Given the description of an element on the screen output the (x, y) to click on. 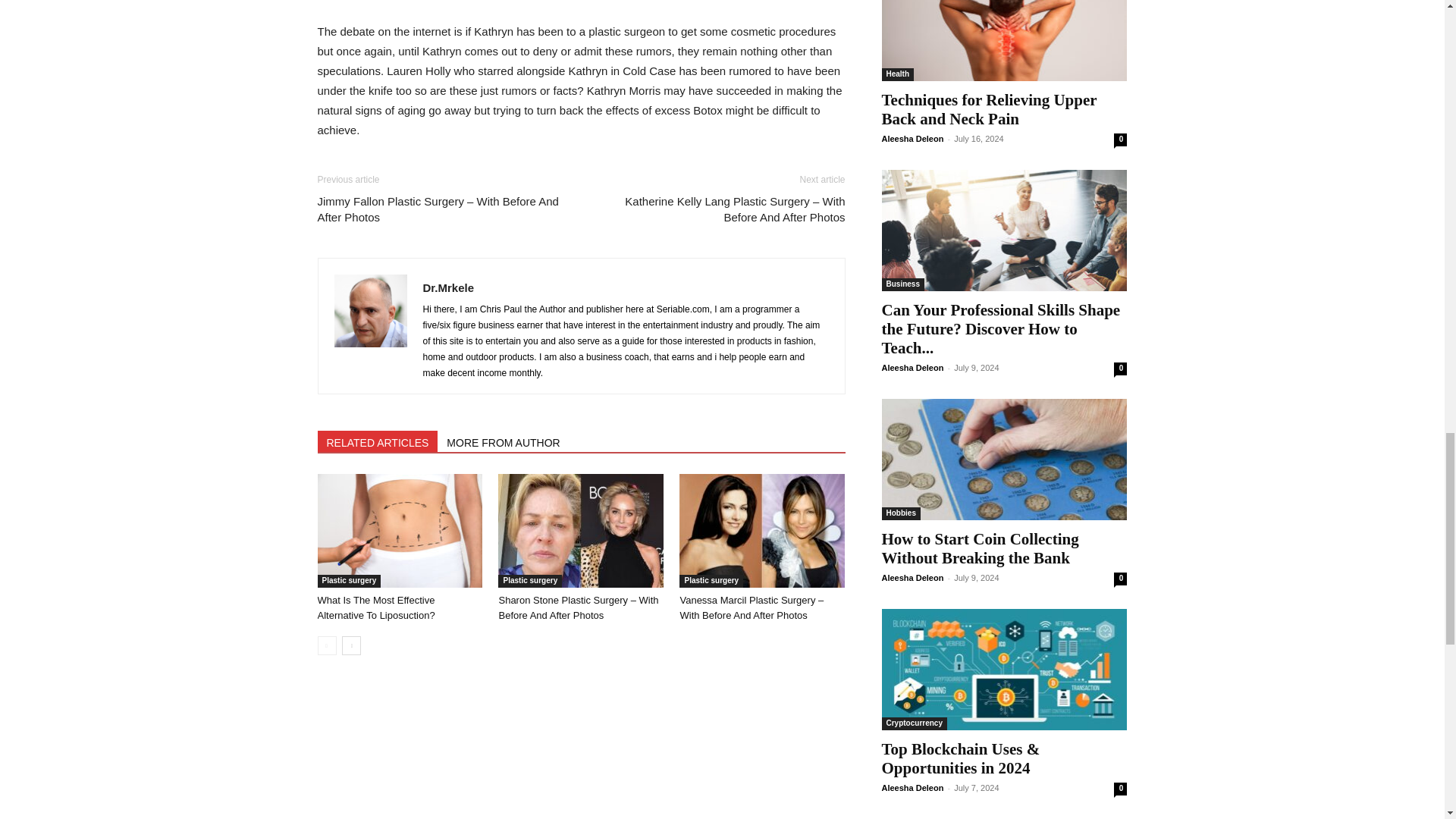
What Is The Most Effective Alternative To Liposuction? (375, 607)
Techniques for Relieving Upper Back and Neck Pain (1003, 40)
What Is The Most Effective Alternative To Liposuction? (399, 531)
